Given the description of an element on the screen output the (x, y) to click on. 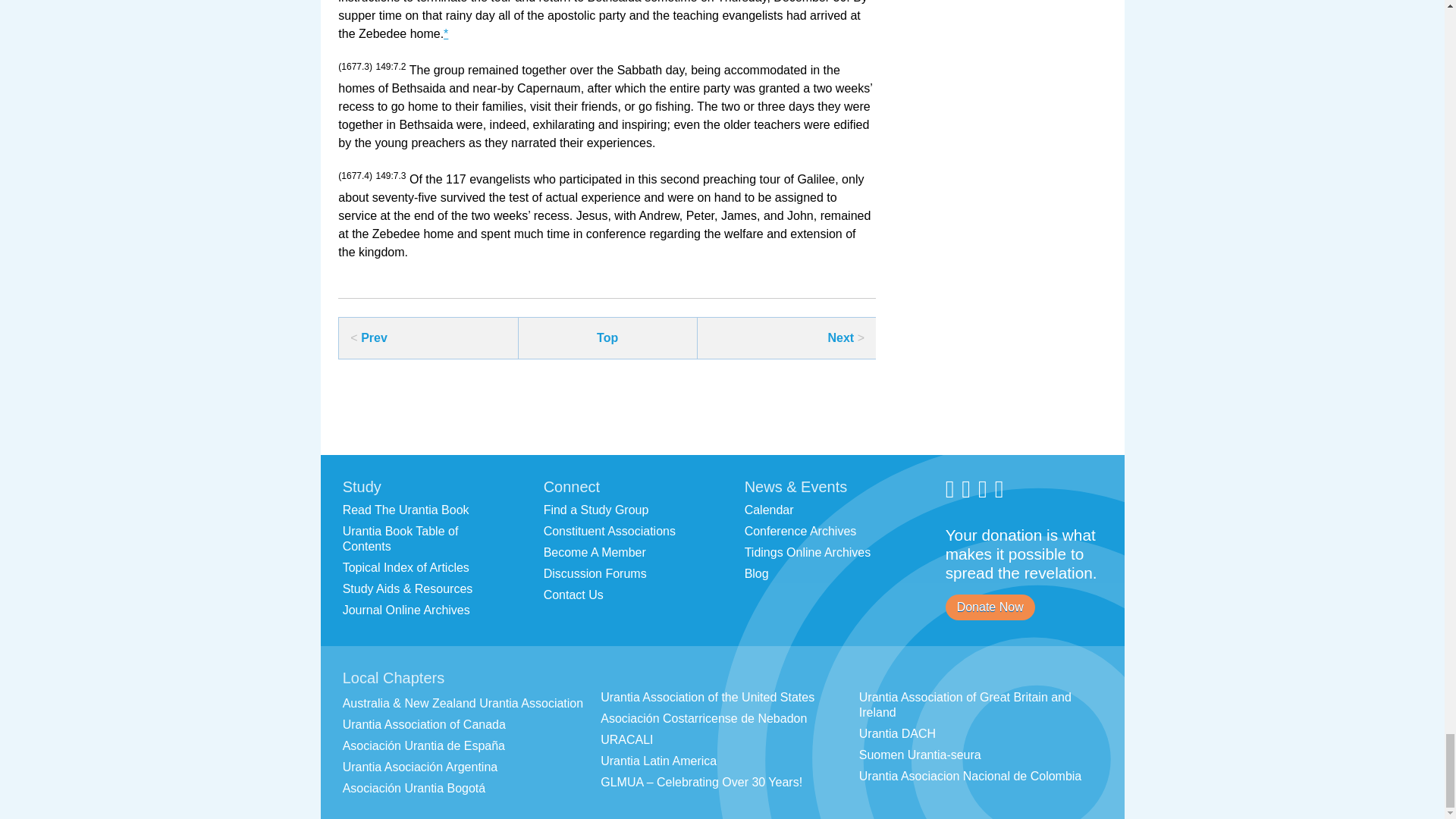
Previous (374, 337)
Top of Page (606, 337)
Next (840, 337)
